Given the description of an element on the screen output the (x, y) to click on. 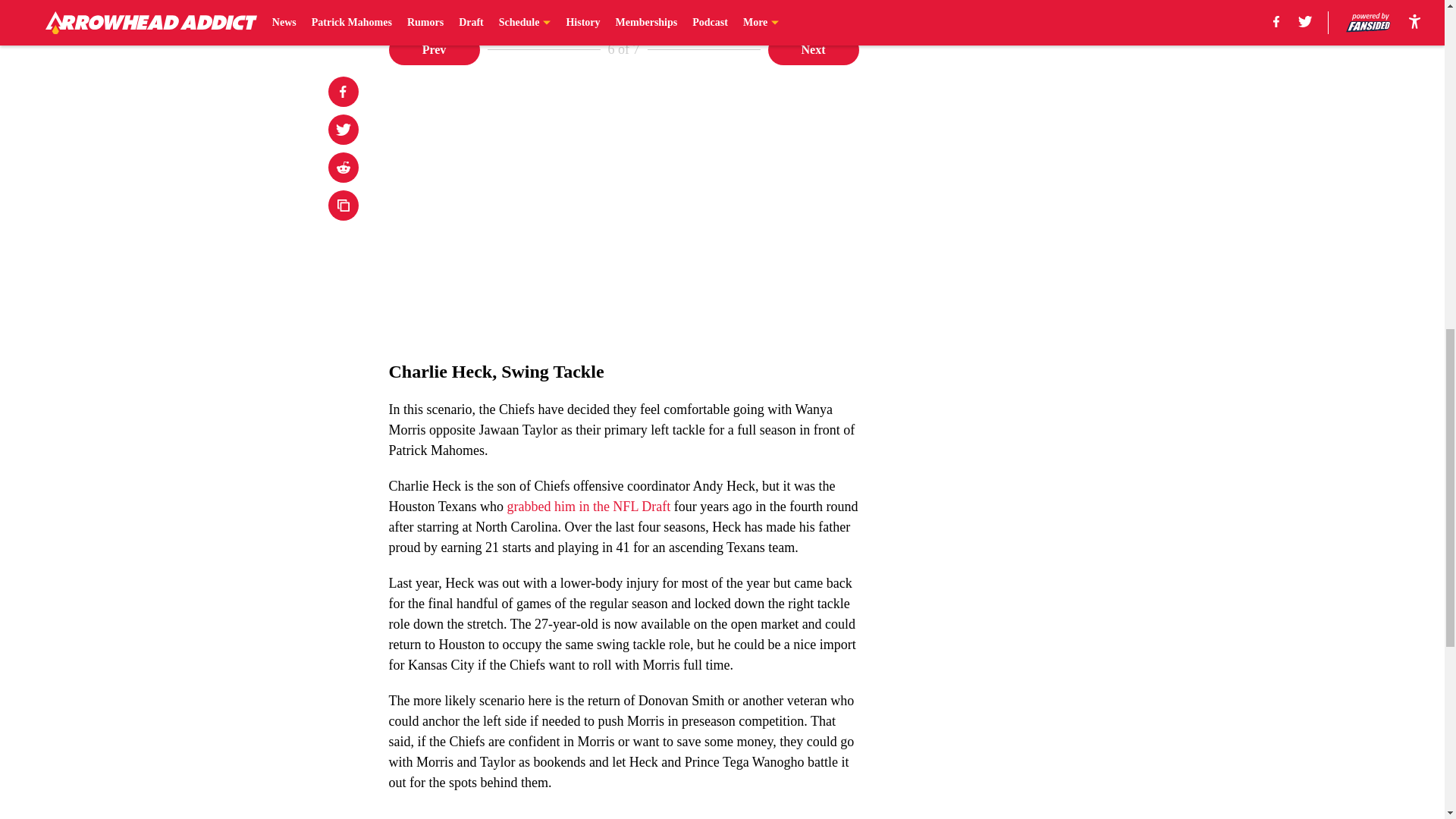
grabbed him in the NFL Draft (587, 506)
Prev (433, 50)
Next (813, 50)
